Given the description of an element on the screen output the (x, y) to click on. 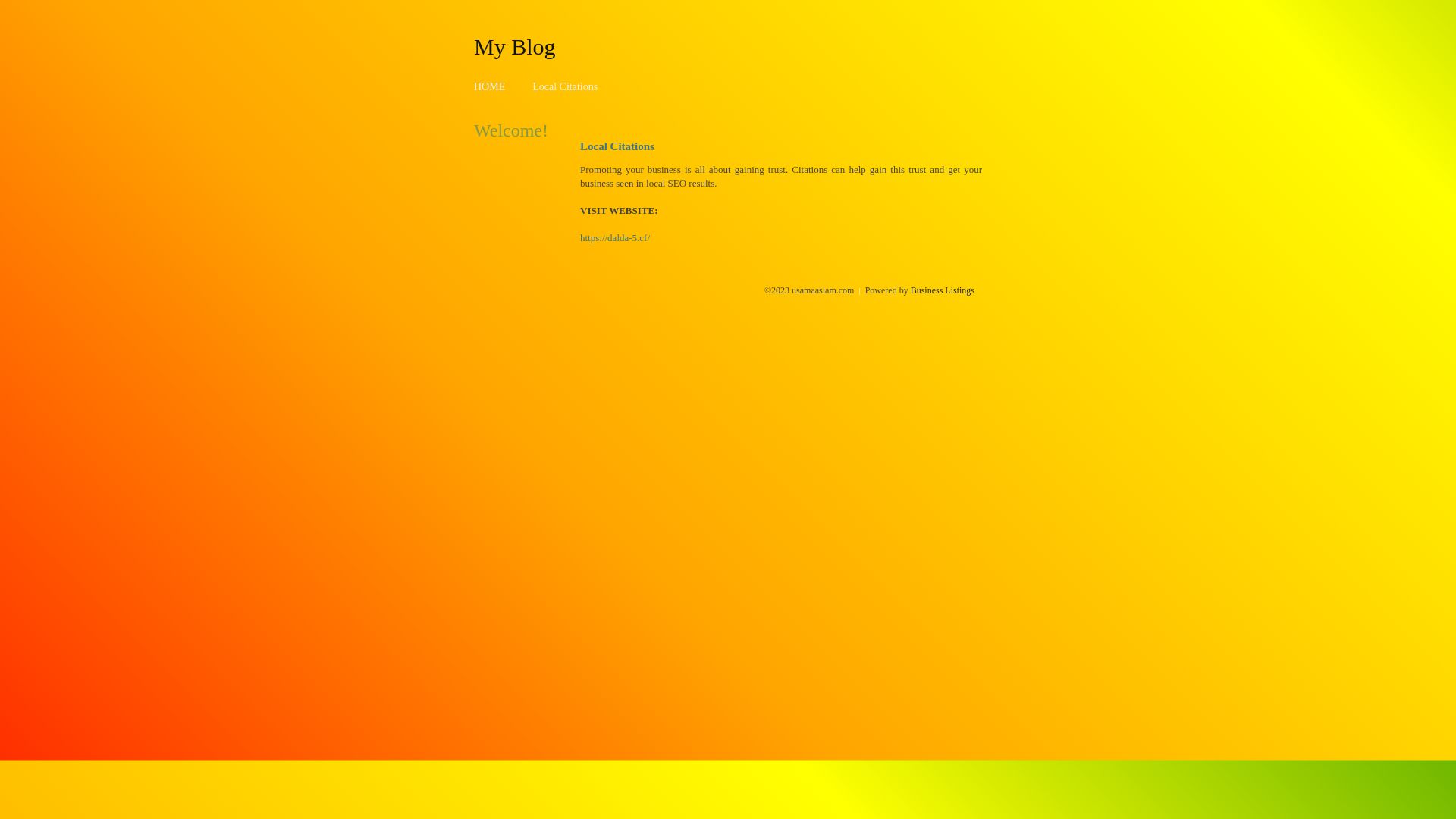
HOME Element type: text (489, 86)
Local Citations Element type: text (564, 86)
Business Listings Element type: text (942, 290)
My Blog Element type: text (514, 46)
https://dalda-5.cf/ Element type: text (614, 237)
